Given the description of an element on the screen output the (x, y) to click on. 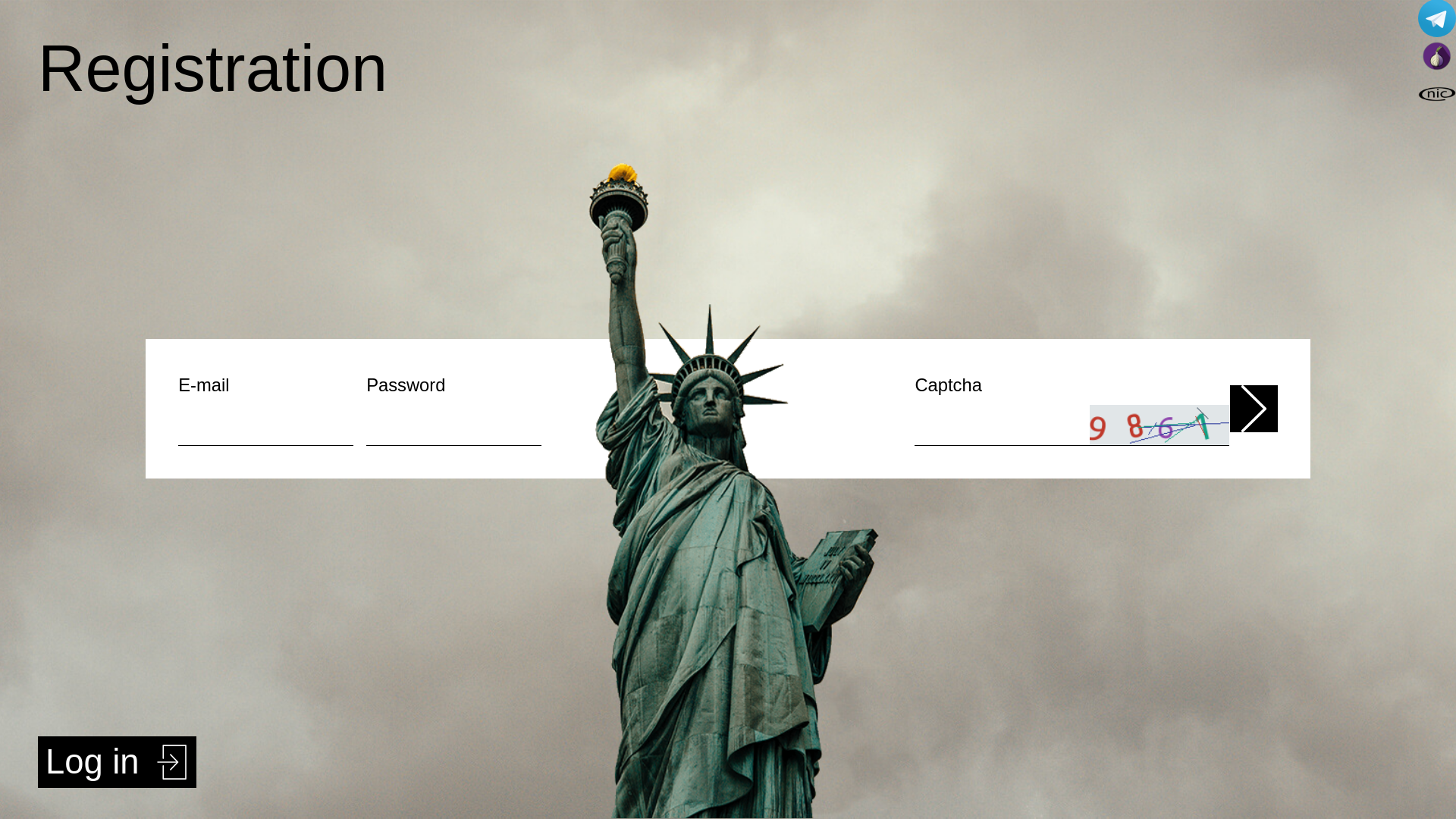
Log in Element type: text (116, 761)
